Given the description of an element on the screen output the (x, y) to click on. 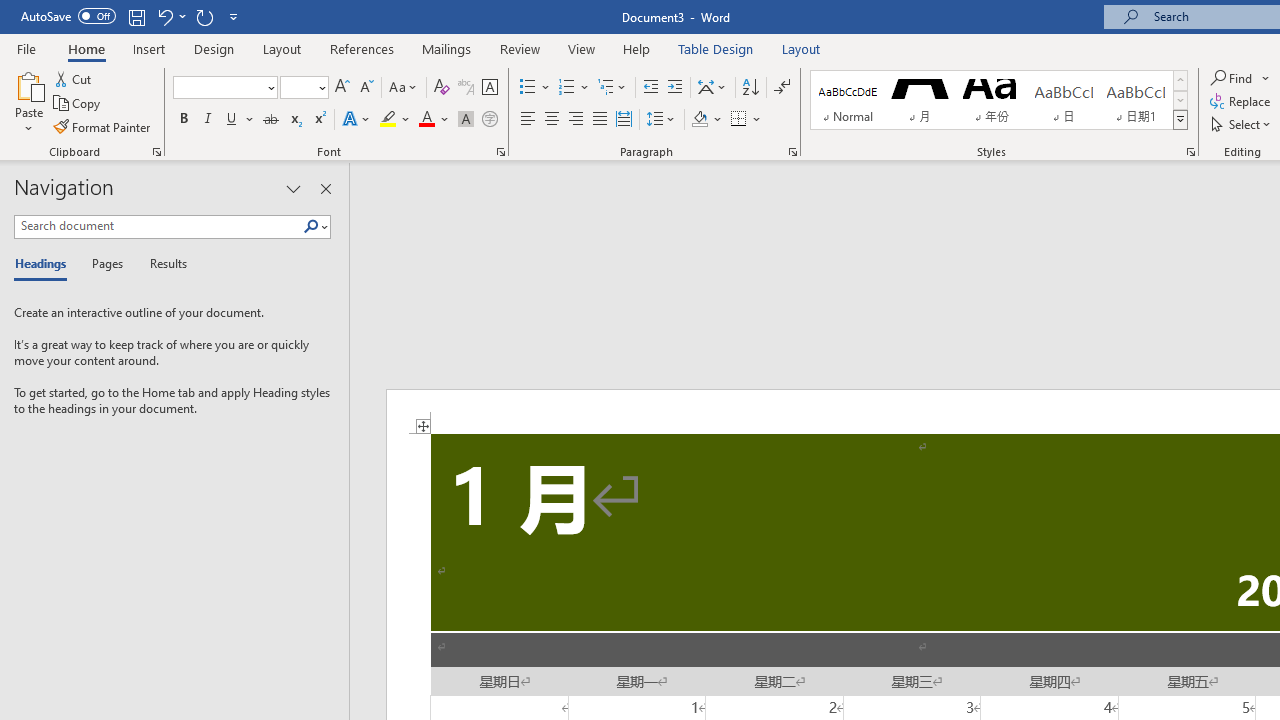
Text Highlight Color Yellow (388, 119)
Strikethrough (270, 119)
Undo Grow Font (170, 15)
Repeat Grow Font (204, 15)
Character Shading (465, 119)
Sort... (750, 87)
Select (1242, 124)
Font... (500, 151)
Insert (149, 48)
AutomationID: QuickStylesGallery (999, 99)
